Given the description of an element on the screen output the (x, y) to click on. 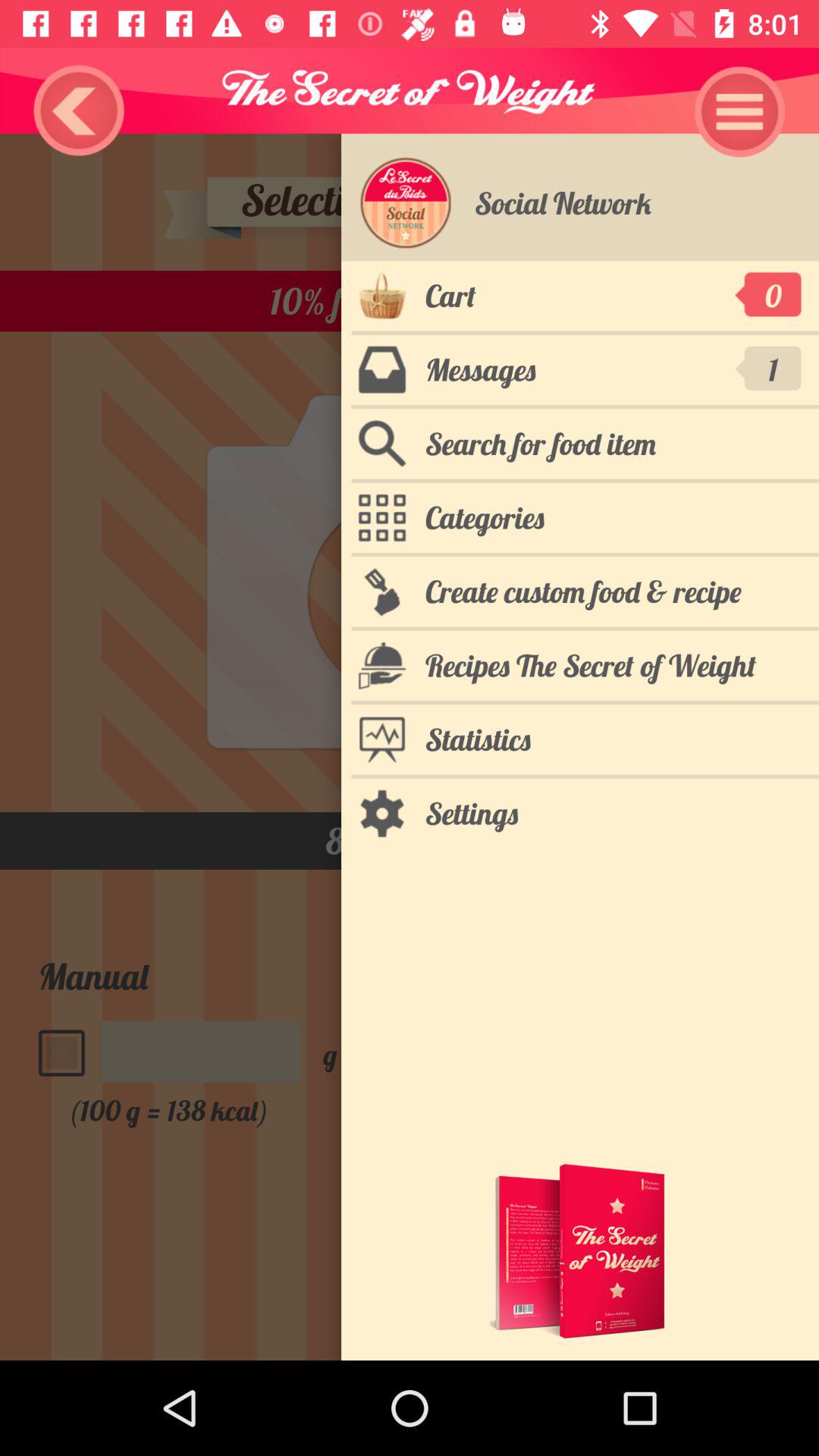
select the image below settings (580, 1250)
select the symbol left to categories (382, 517)
click on the icon for recipes the secret of weight (382, 666)
